Given the description of an element on the screen output the (x, y) to click on. 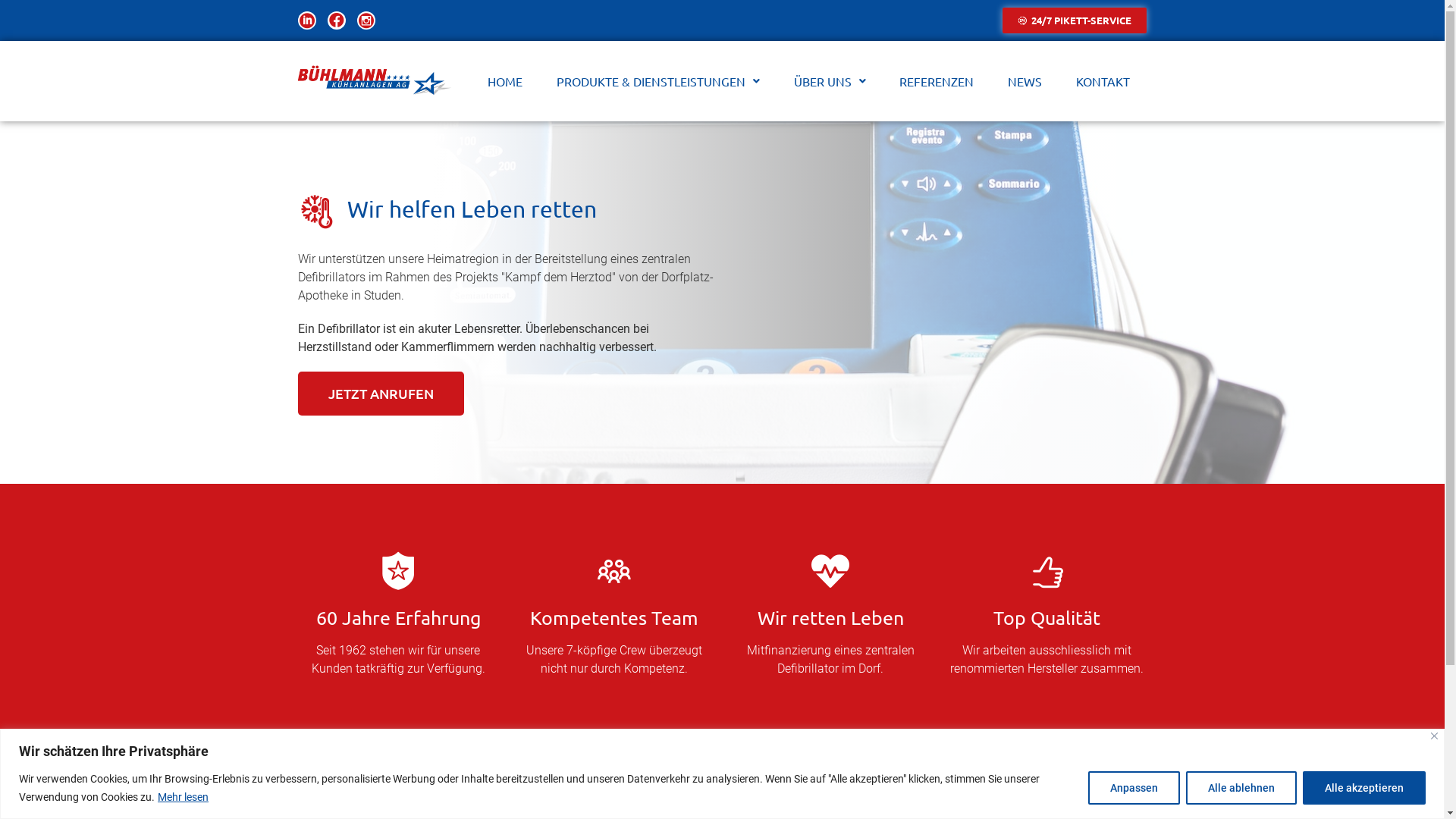
PRODUKTE & DIENSTLEISTUNGEN Element type: text (657, 80)
24/7 PIKETT-SERVICE Element type: text (1074, 20)
Alle akzeptieren Element type: text (1363, 786)
HOME Element type: text (504, 80)
JETZT ANRUFEN Element type: text (380, 393)
Anpassen Element type: text (1133, 786)
Alle ablehnen Element type: text (1241, 786)
NEWS Element type: text (1025, 80)
REFERENZEN Element type: text (936, 80)
KONTAKT Element type: text (1103, 80)
Mehr lesen Element type: text (182, 796)
